Given the description of an element on the screen output the (x, y) to click on. 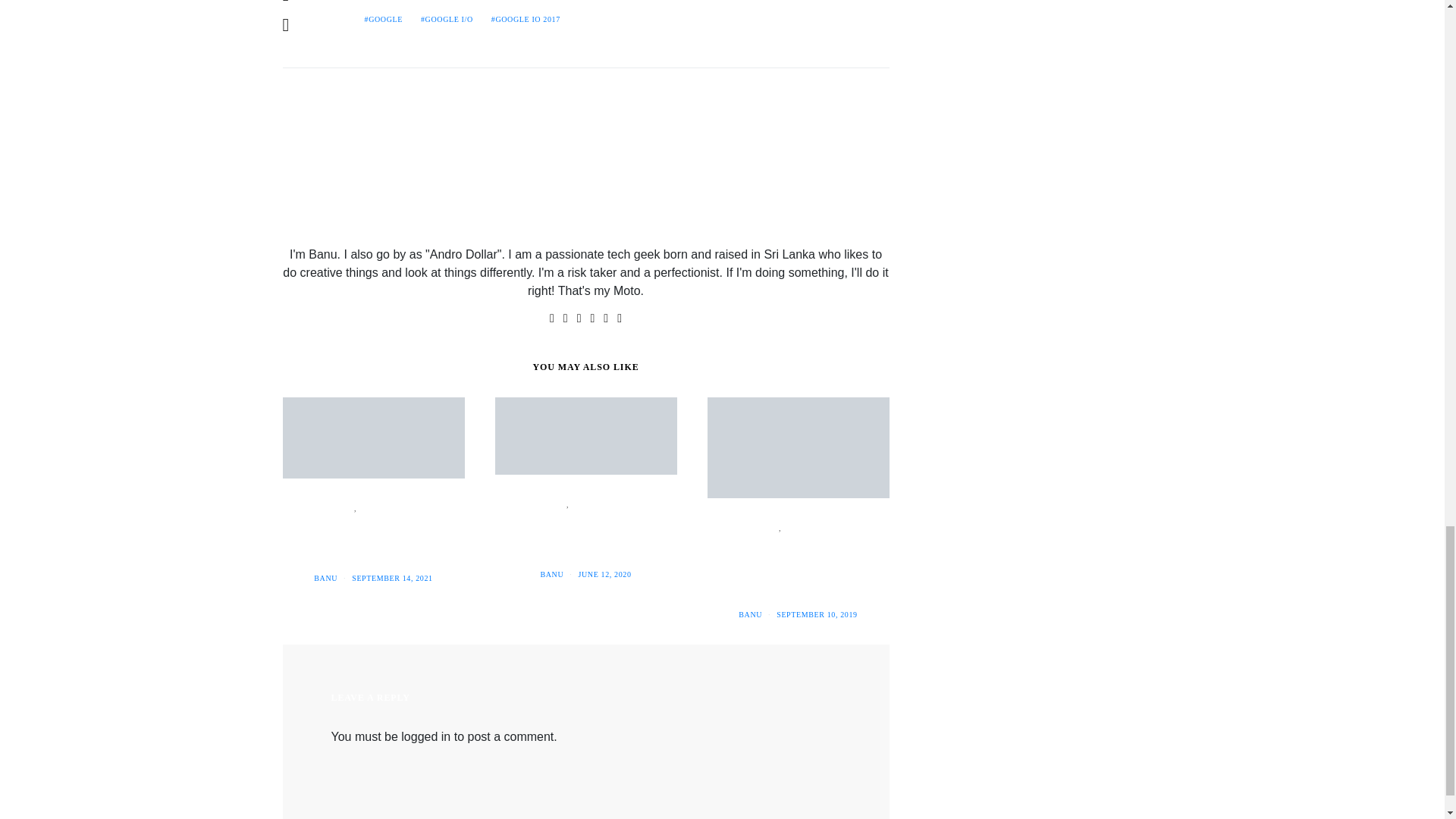
GOOGLE (382, 19)
View all posts by Banu (325, 578)
View all posts by Banu (749, 614)
View all posts by Banu (551, 574)
